Given the description of an element on the screen output the (x, y) to click on. 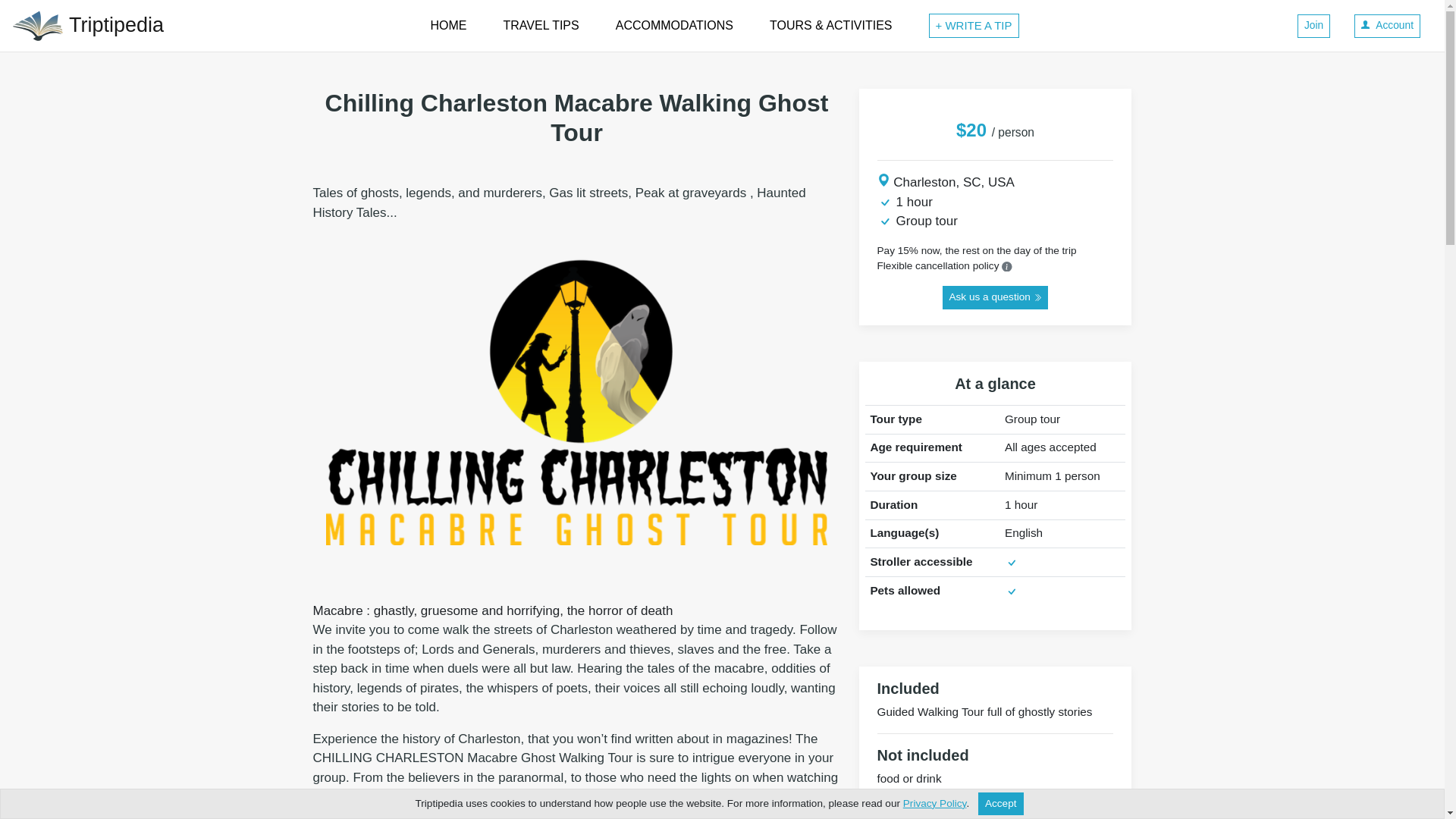
Join (1313, 25)
HOME (448, 25)
Account (1387, 25)
TRAVEL TIPS (541, 25)
Login (1387, 25)
ACCOMMODATIONS (674, 25)
Ask us a question (995, 296)
Join Triptipedia (1313, 25)
